Given the description of an element on the screen output the (x, y) to click on. 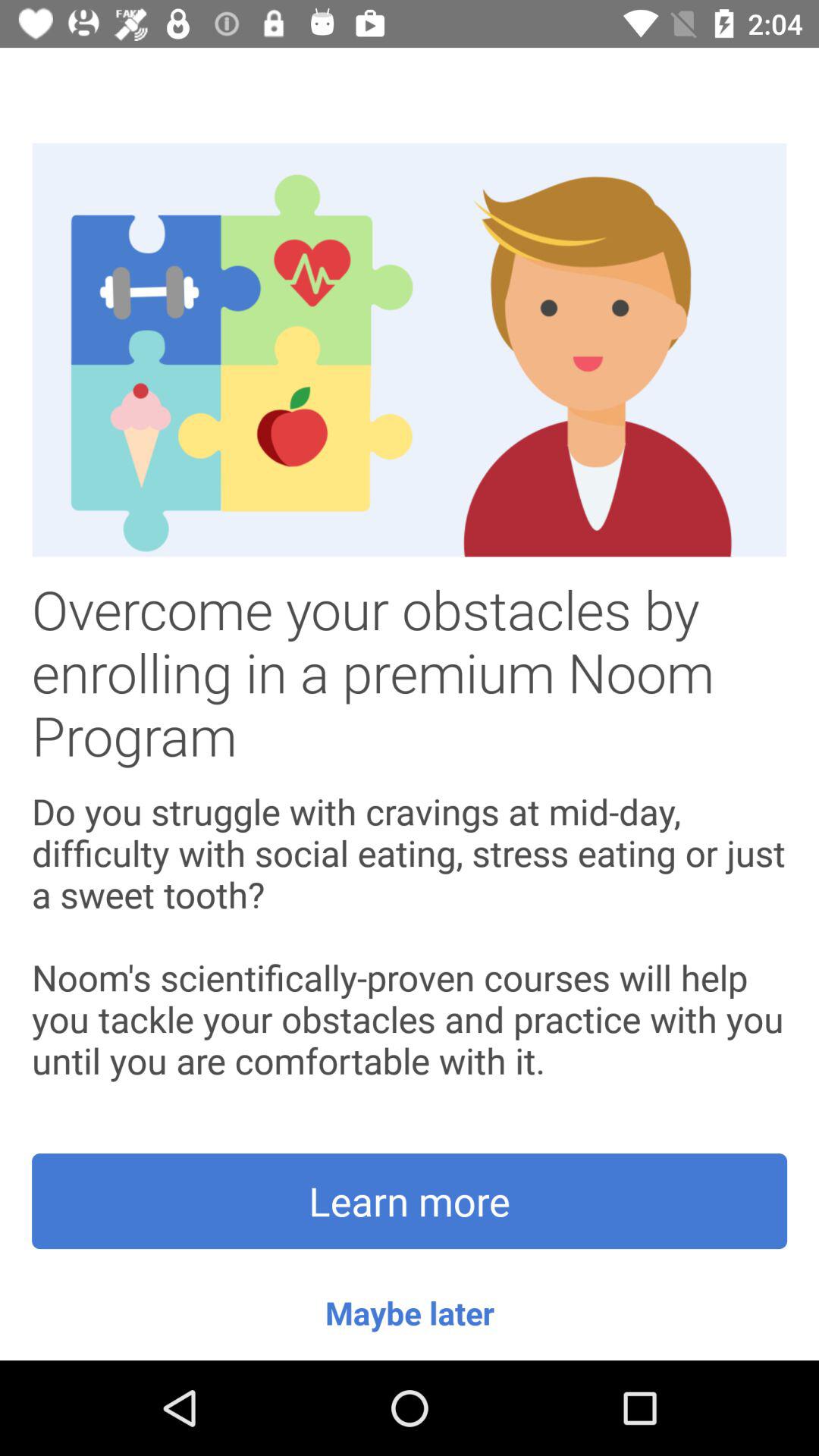
turn off maybe later icon (409, 1312)
